Given the description of an element on the screen output the (x, y) to click on. 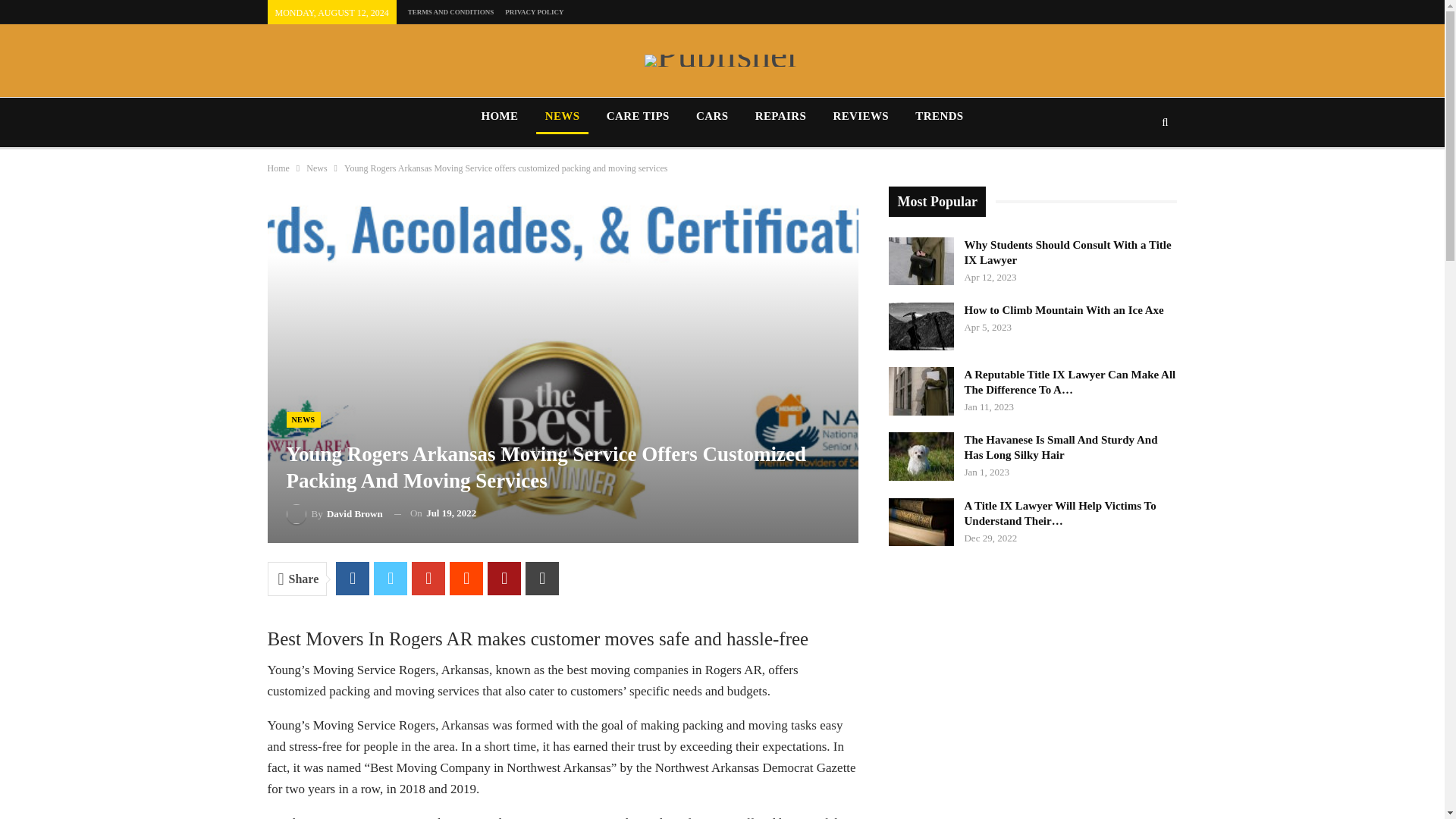
PRIVACY POLICY (534, 11)
REVIEWS (861, 115)
News (315, 167)
NEWS (562, 115)
CARS (711, 115)
TRENDS (938, 115)
HOME (499, 115)
CARE TIPS (637, 115)
Home (277, 167)
TERMS AND CONDITIONS (451, 11)
